Given the description of an element on the screen output the (x, y) to click on. 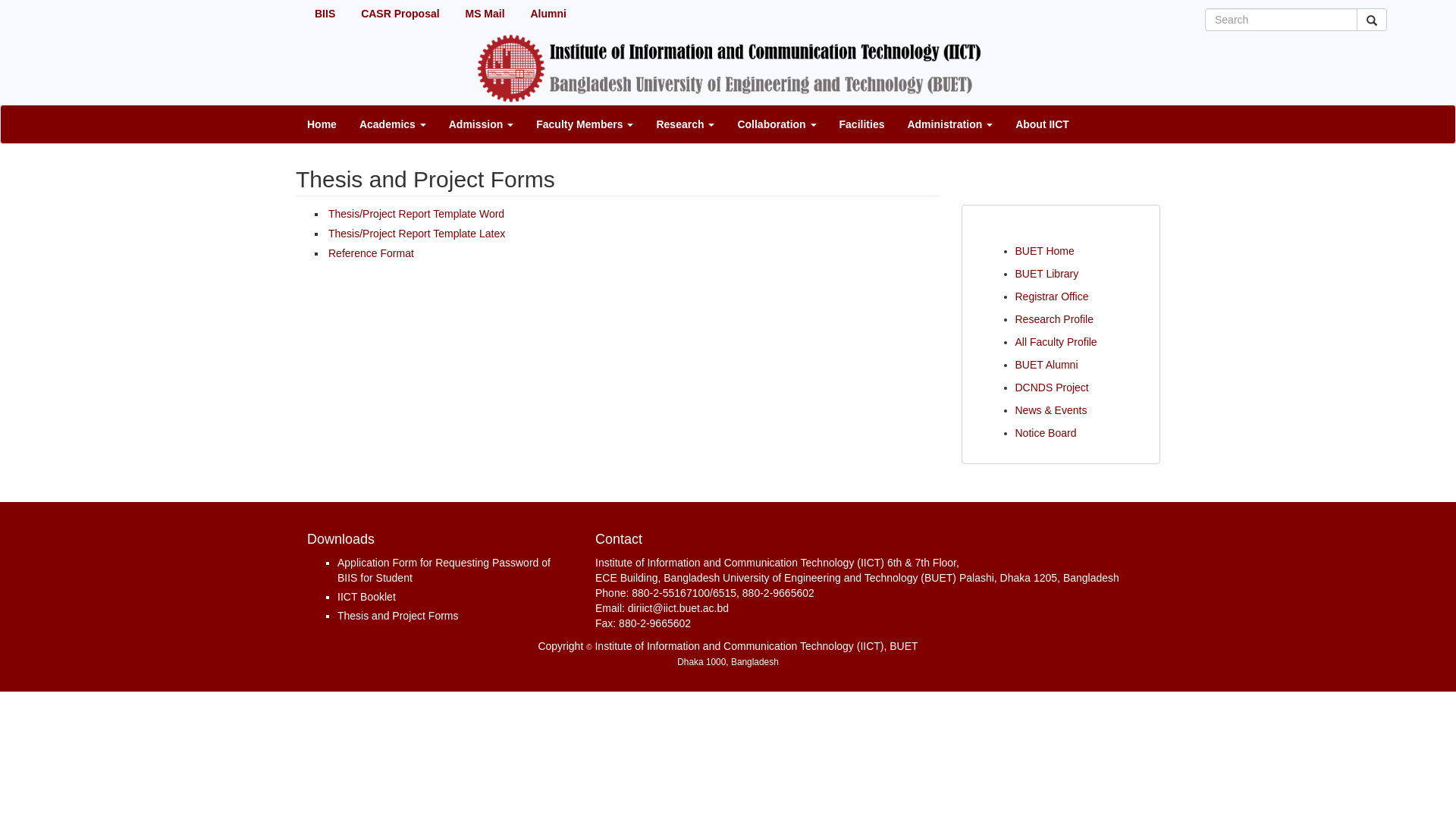
Registrar Office Element type: text (1051, 296)
Collaboration Element type: text (776, 124)
BUET Home Element type: text (1043, 250)
IICT Booklet Element type: text (366, 596)
Home Element type: text (321, 124)
News & Events Element type: text (1050, 410)
Faculty Members Element type: text (584, 124)
BUET Library Element type: text (1046, 273)
BUET Alumni Element type: text (1045, 364)
DCNDS Project Element type: text (1051, 387)
Academics Element type: text (392, 124)
Reference Format Element type: text (371, 253)
Research Element type: text (684, 124)
All Faculty Profile Element type: text (1055, 341)
Research Profile Element type: text (1053, 319)
Admission Element type: text (480, 124)
Thesis/Project Report Template Word Element type: text (416, 213)
Notice Board Element type: text (1045, 432)
Application Form for Requesting Password of BIIS for Student Element type: text (443, 569)
Thesis/Project Report Template Latex Element type: text (416, 233)
Facilities Element type: text (862, 124)
Administration Element type: text (949, 124)
About IICT Element type: text (1042, 124)
Thesis and Project Forms Element type: text (397, 615)
